Given the description of an element on the screen output the (x, y) to click on. 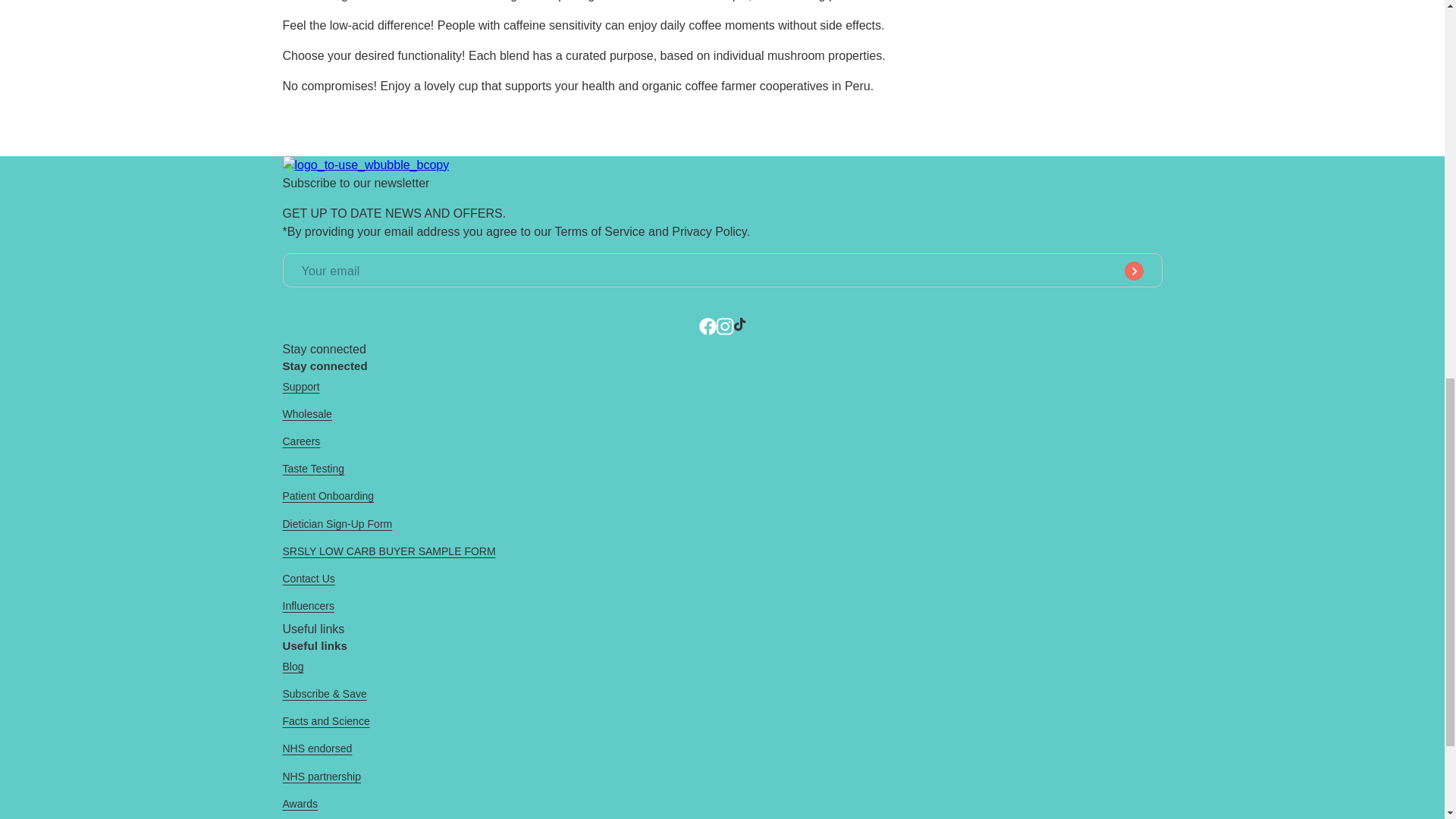
SRSLYLowCarb (365, 164)
